Given the description of an element on the screen output the (x, y) to click on. 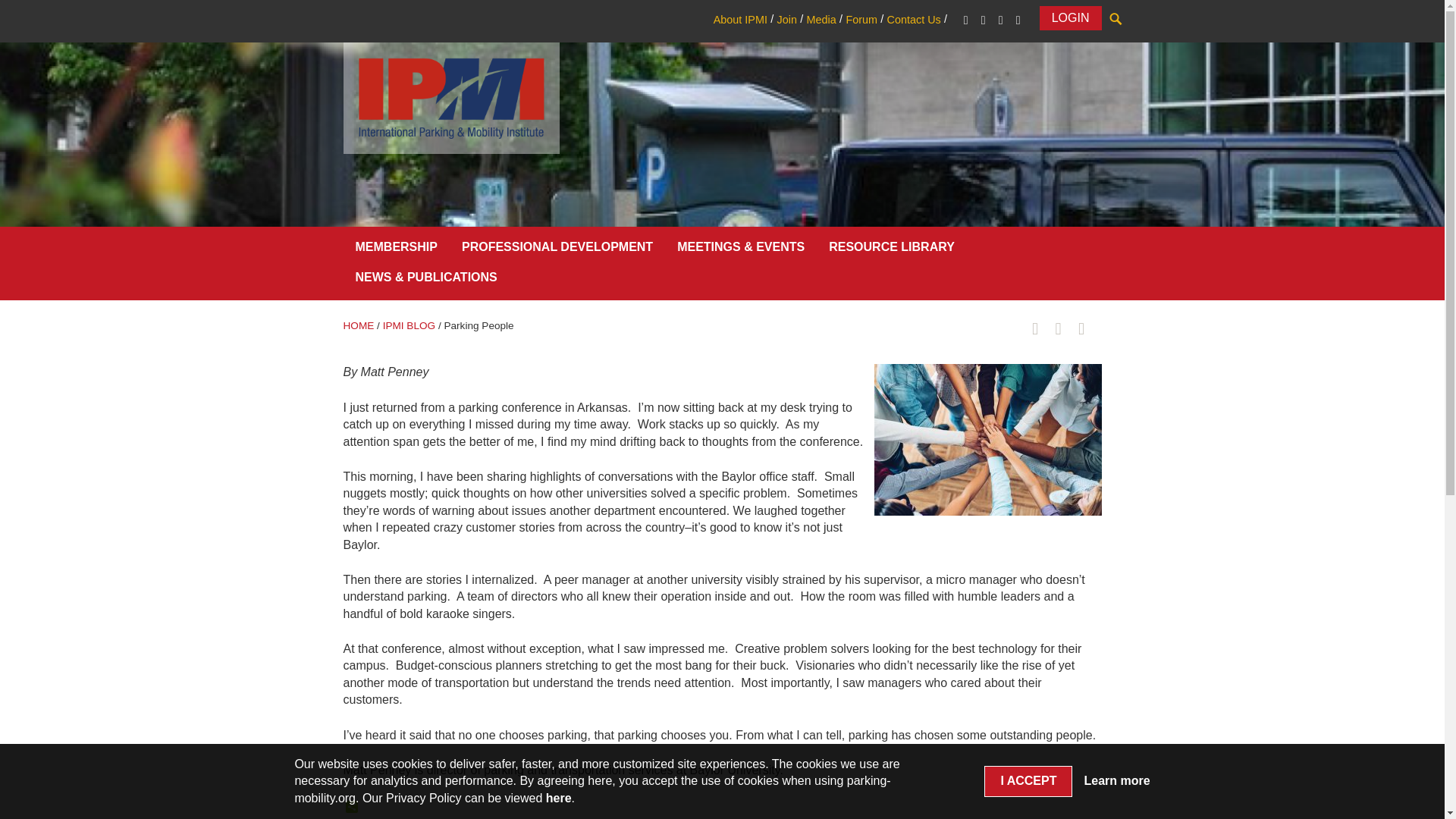
Forum (861, 19)
PROFESSIONAL DEVELOPMENT (557, 250)
Go to the IPMI Blog category archives. (408, 325)
Contact Us (913, 19)
About IPMI (740, 19)
RESOURCE LIBRARY (891, 250)
LOGIN (1070, 17)
Media (821, 19)
IPMI (450, 97)
MEMBERSHIP (395, 250)
Join (786, 19)
